Given the description of an element on the screen output the (x, y) to click on. 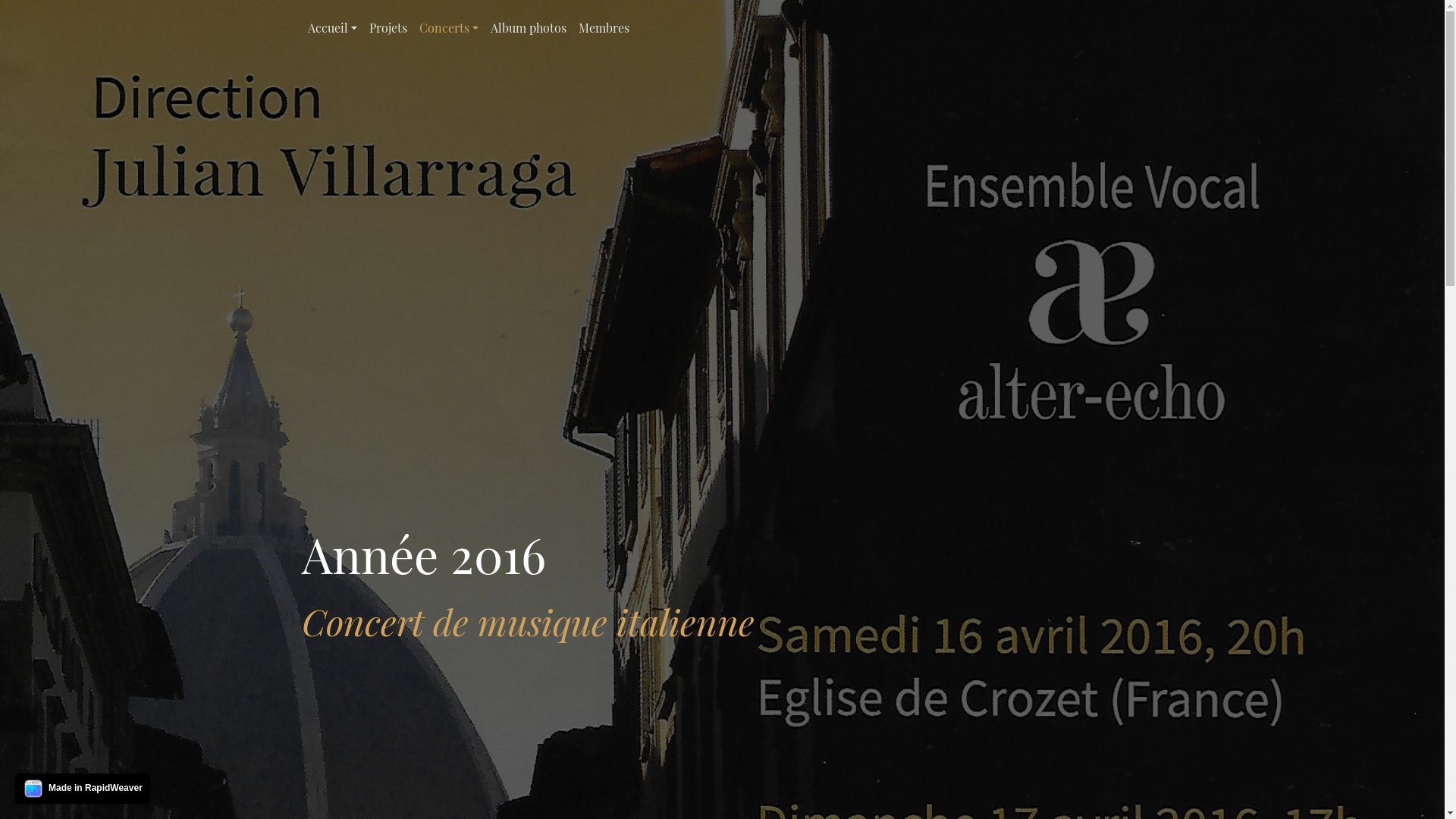
Accueil Element type: text (332, 27)
Concerts Element type: text (448, 27)
Album photos Element type: text (528, 27)
Projets Element type: text (388, 27)
Membres Element type: text (603, 27)
